Given the description of an element on the screen output the (x, y) to click on. 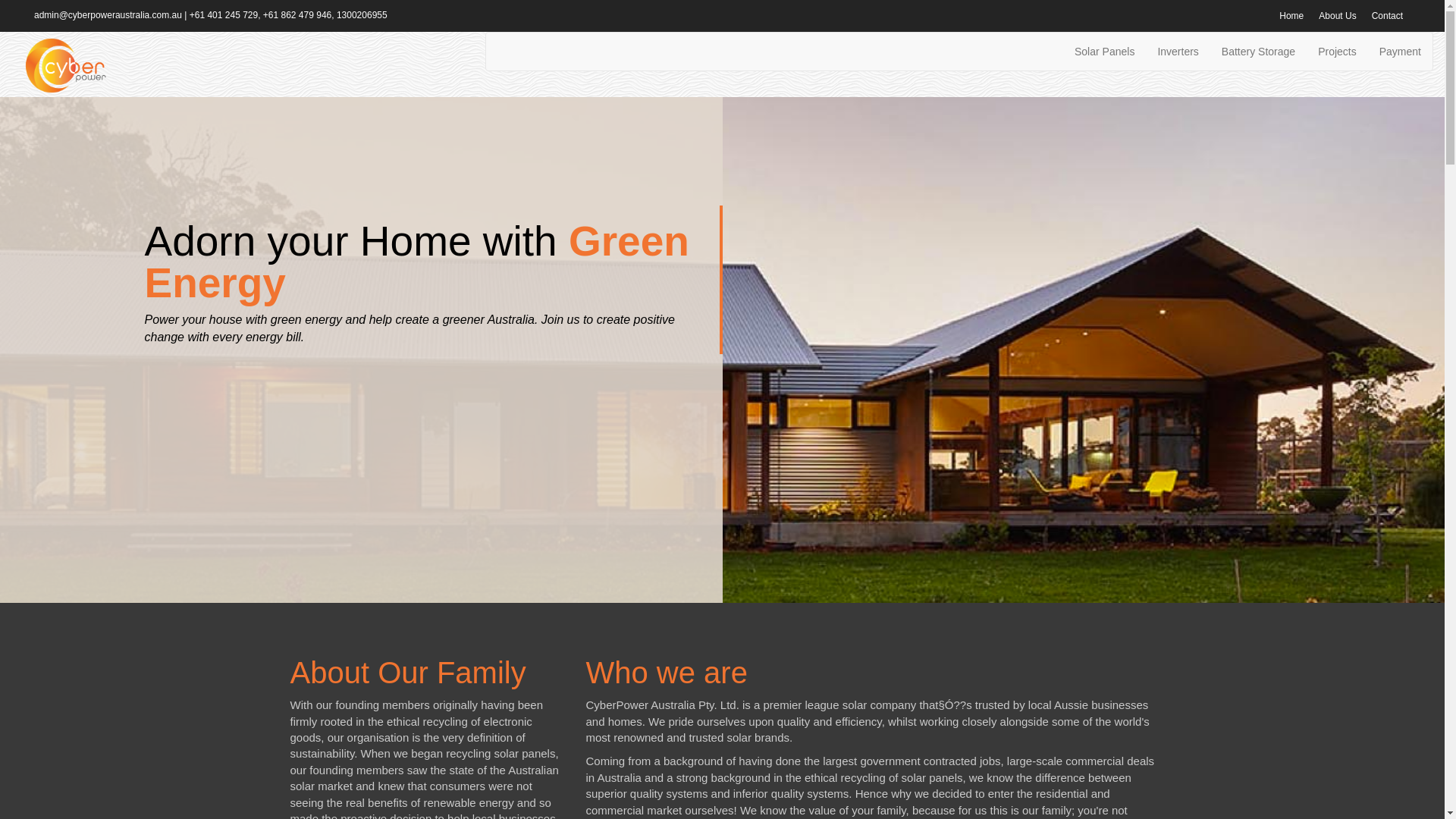
Contact Element type: text (1386, 15)
+61 862 479 946 Element type: text (297, 14)
Battery Storage Element type: text (1258, 51)
Inverters Element type: text (1177, 51)
Payment Element type: text (1400, 51)
admin@cyberpoweraustralia.com.au Element type: text (108, 14)
Solar Panels Element type: text (1104, 51)
1300206955 Element type: text (361, 14)
About Us Element type: text (1336, 15)
Home Element type: text (1291, 15)
+61 401 245 729 Element type: text (223, 14)
Projects Element type: text (1337, 51)
